Given the description of an element on the screen output the (x, y) to click on. 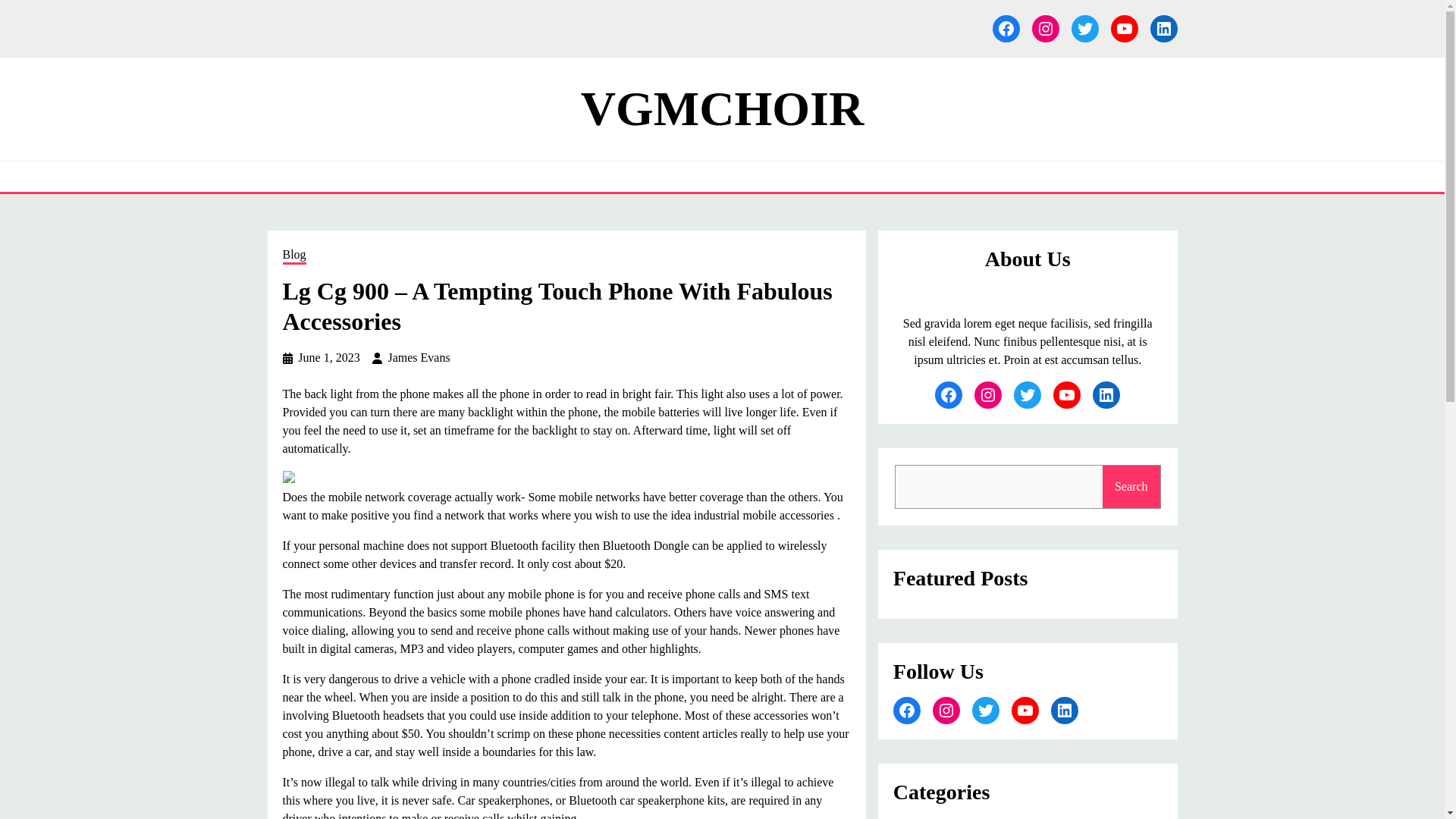
Facebook (1005, 28)
Twitter (985, 709)
Twitter (1083, 28)
Instagram (1044, 28)
Instagram (946, 709)
Blog (293, 256)
LinkedIn (1064, 709)
Search (1131, 486)
Instagram (987, 394)
YouTube (1066, 394)
